Given the description of an element on the screen output the (x, y) to click on. 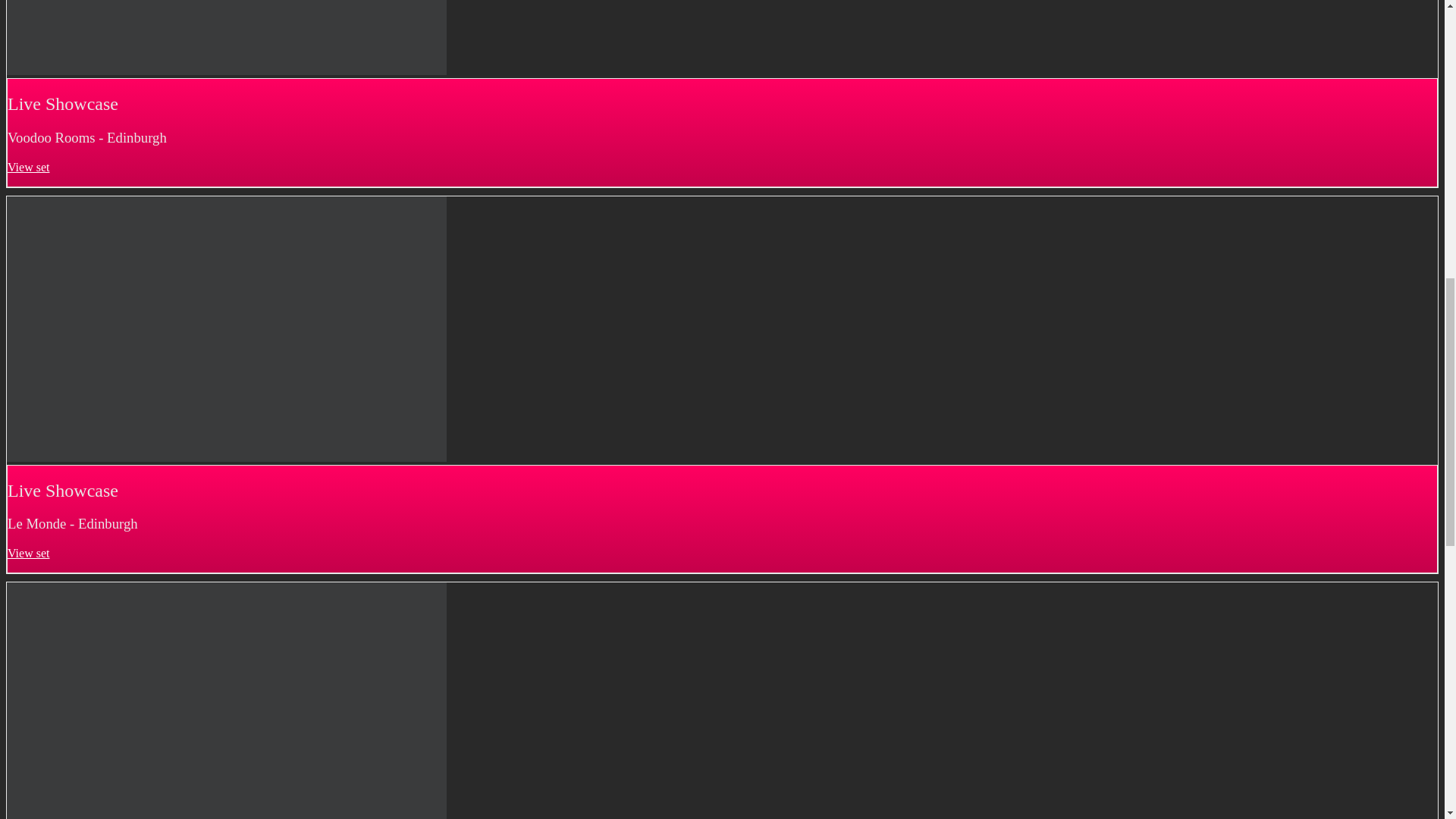
View set (28, 166)
View set (28, 553)
